Given the description of an element on the screen output the (x, y) to click on. 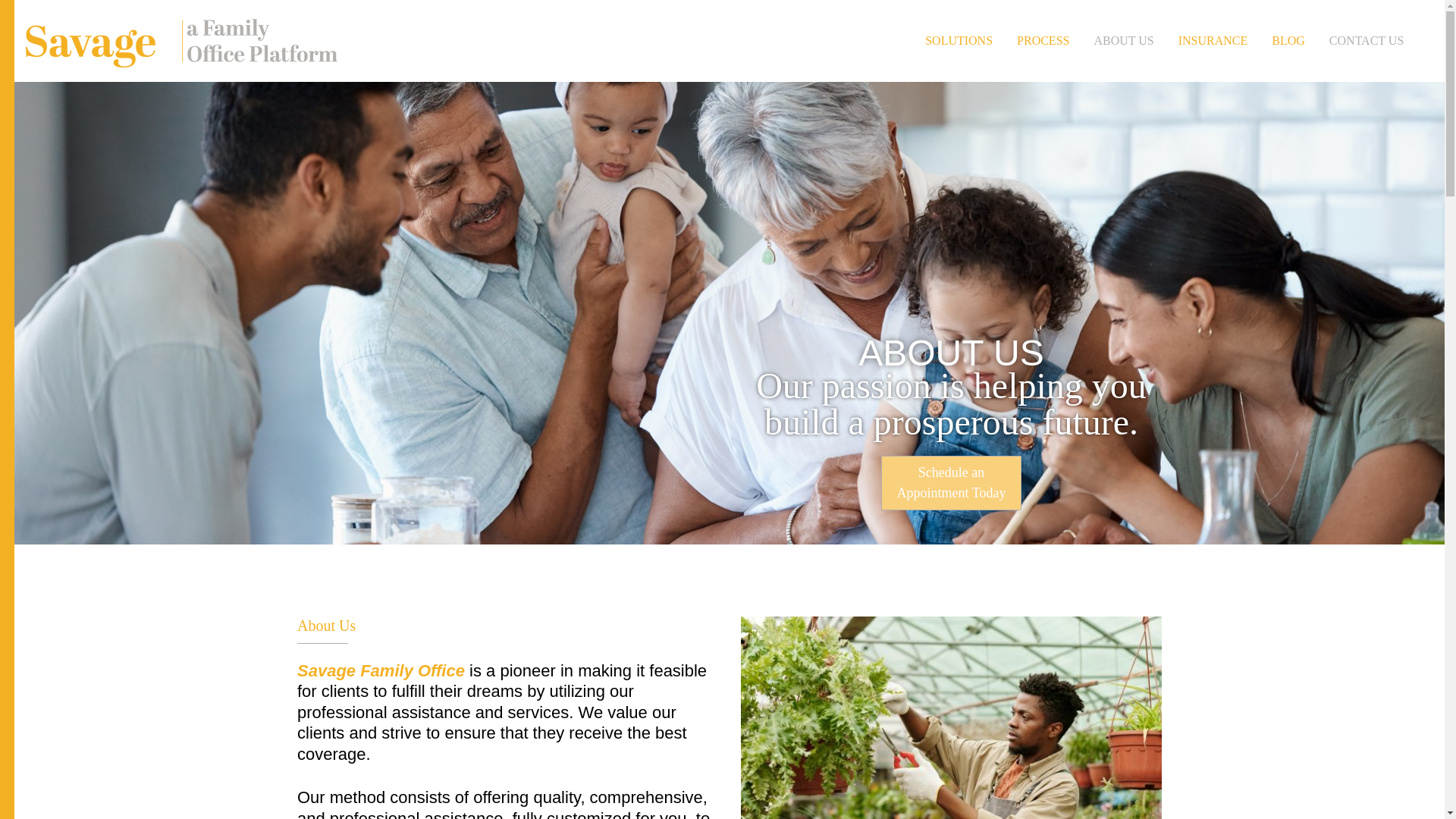
ABOUT US (1123, 40)
SOLUTIONS (958, 40)
PROCESS (1042, 40)
INSURANCE (1213, 40)
CONTACT US (1366, 40)
